Given the description of an element on the screen output the (x, y) to click on. 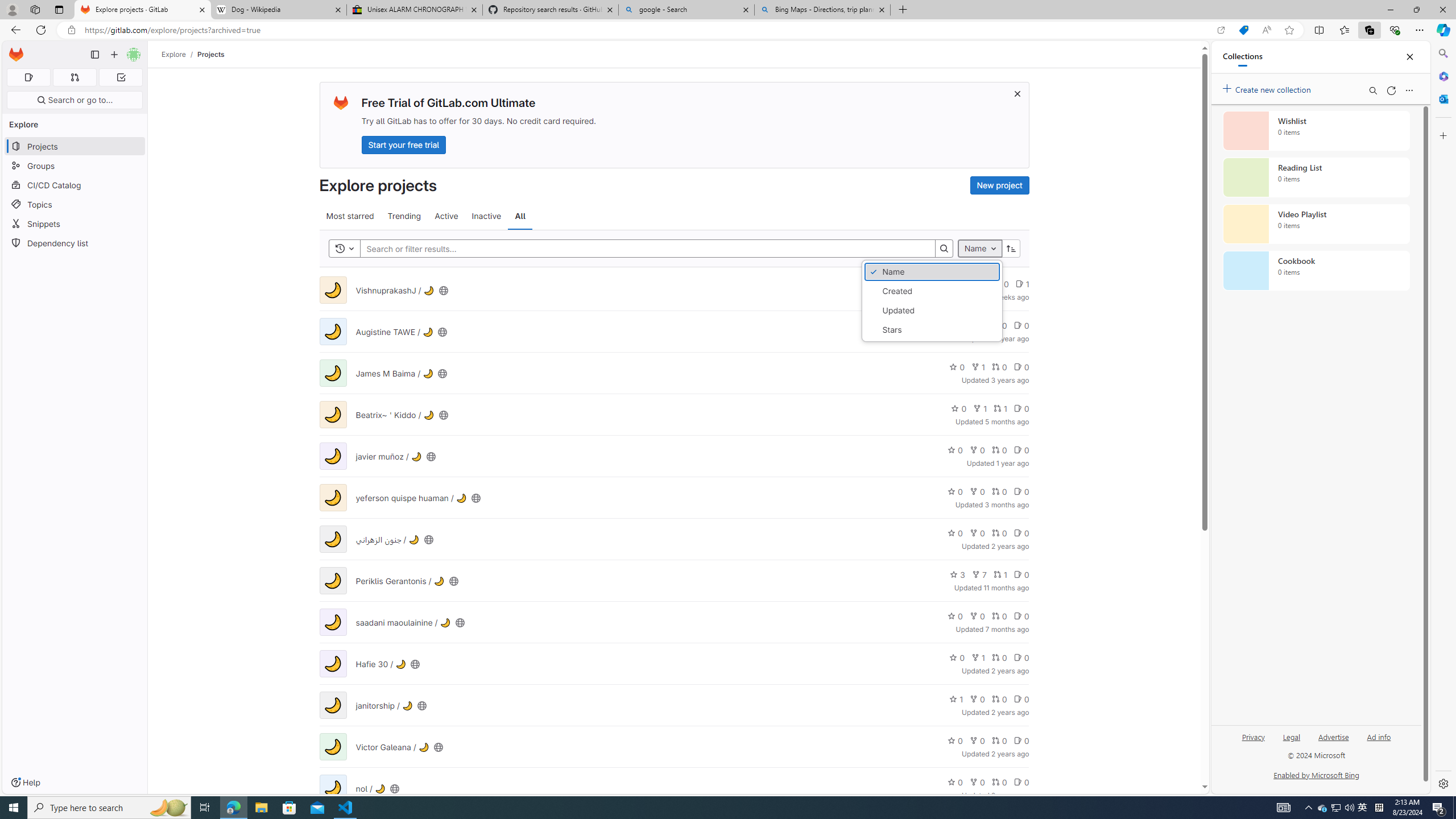
Topics (74, 203)
Projects (211, 53)
Snippets (74, 223)
Explore (173, 53)
More options menu (1409, 90)
Explore/ (179, 53)
